Given the description of an element on the screen output the (x, y) to click on. 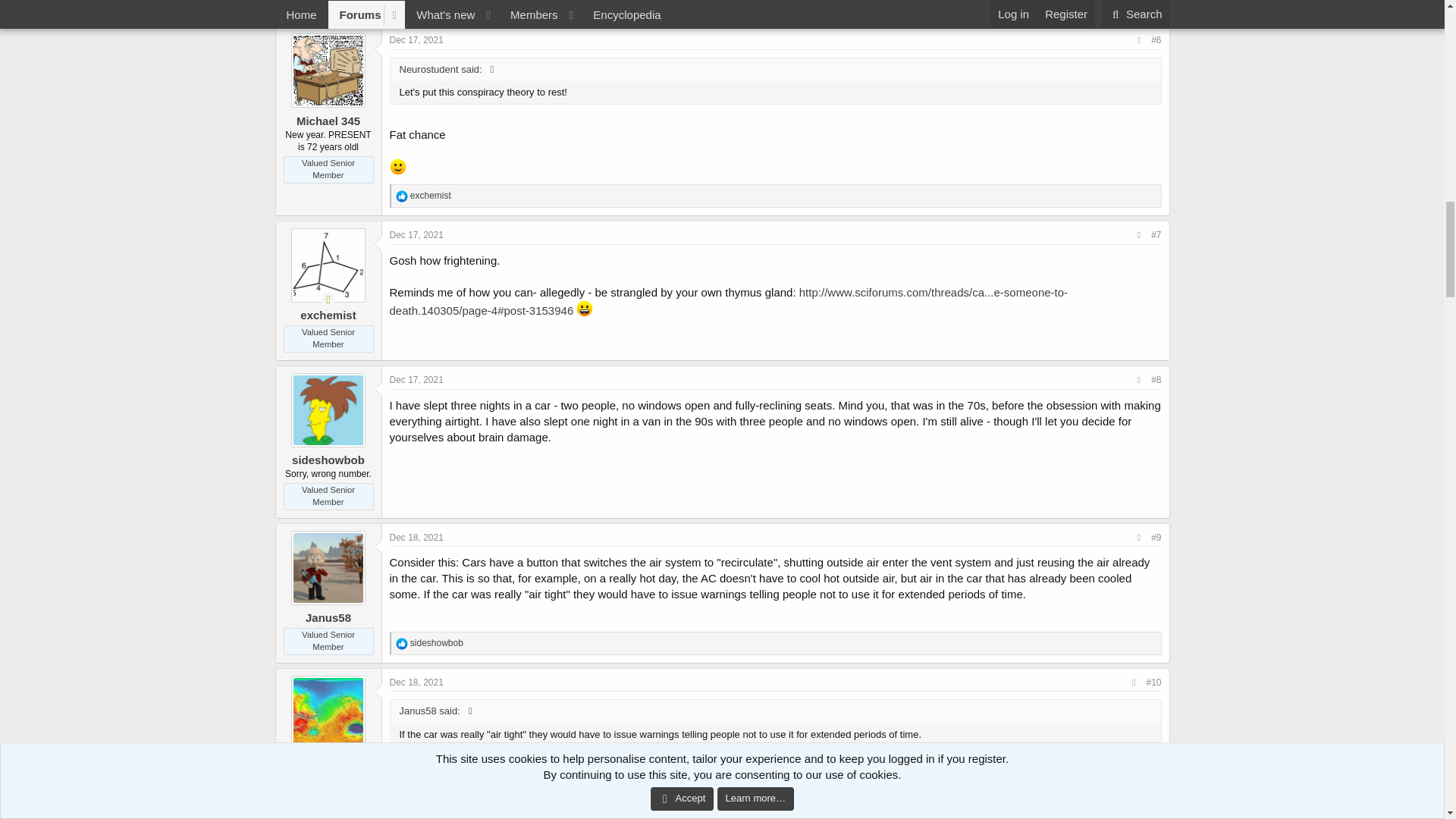
Dec 18, 2021 at 4:59 PM (417, 682)
Like (401, 196)
Dec 18, 2021 at 4:04 AM (417, 537)
Dec 17, 2021 at 9:55 AM (417, 235)
Big Grin    :D (584, 308)
Dec 17, 2021 at 12:14 AM (417, 40)
Like (401, 644)
Dec 17, 2021 at 4:34 PM (417, 379)
